Given the description of an element on the screen output the (x, y) to click on. 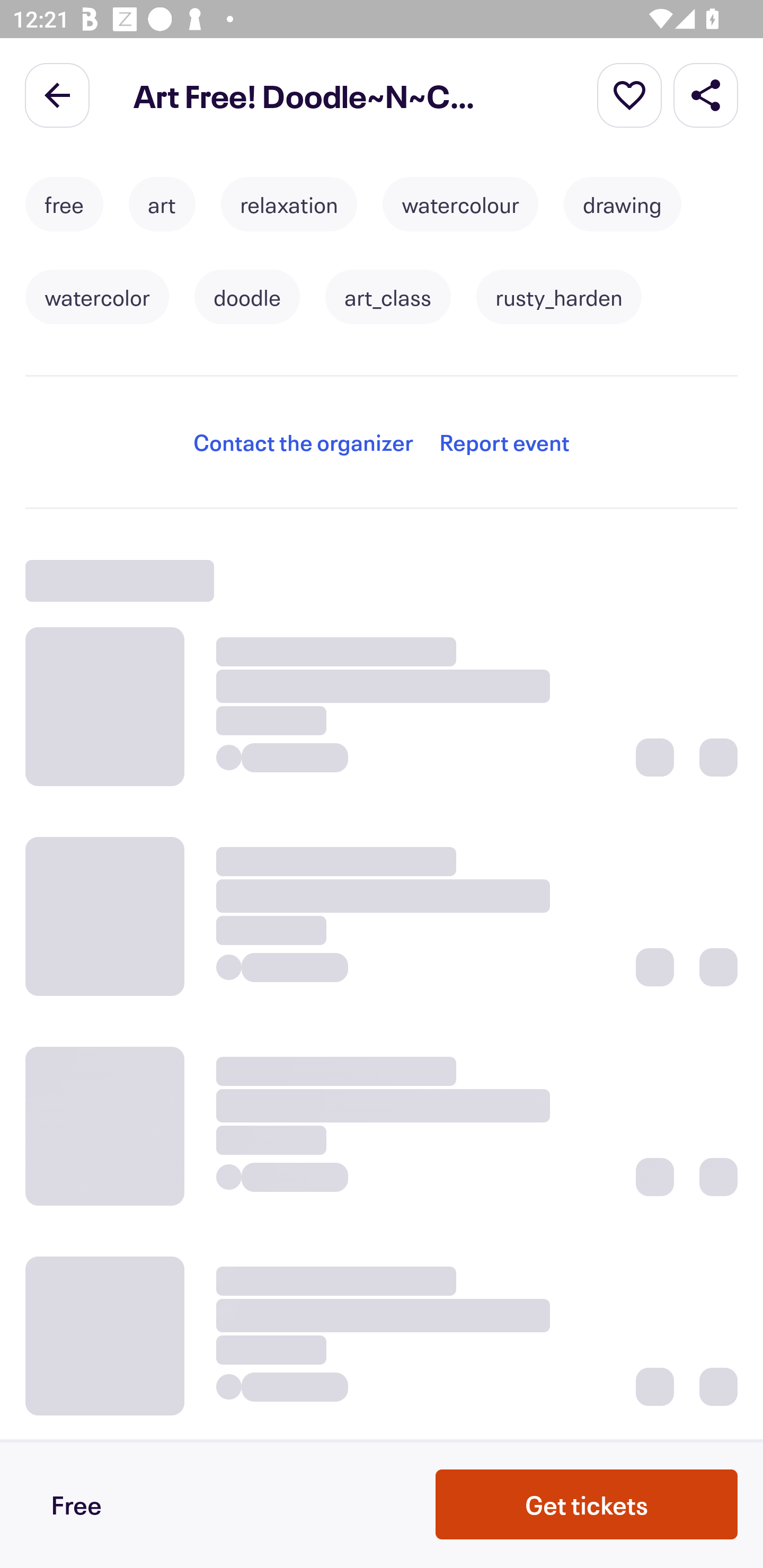
Close tab (38, 82)
Help Center (104, 295)
